Given the description of an element on the screen output the (x, y) to click on. 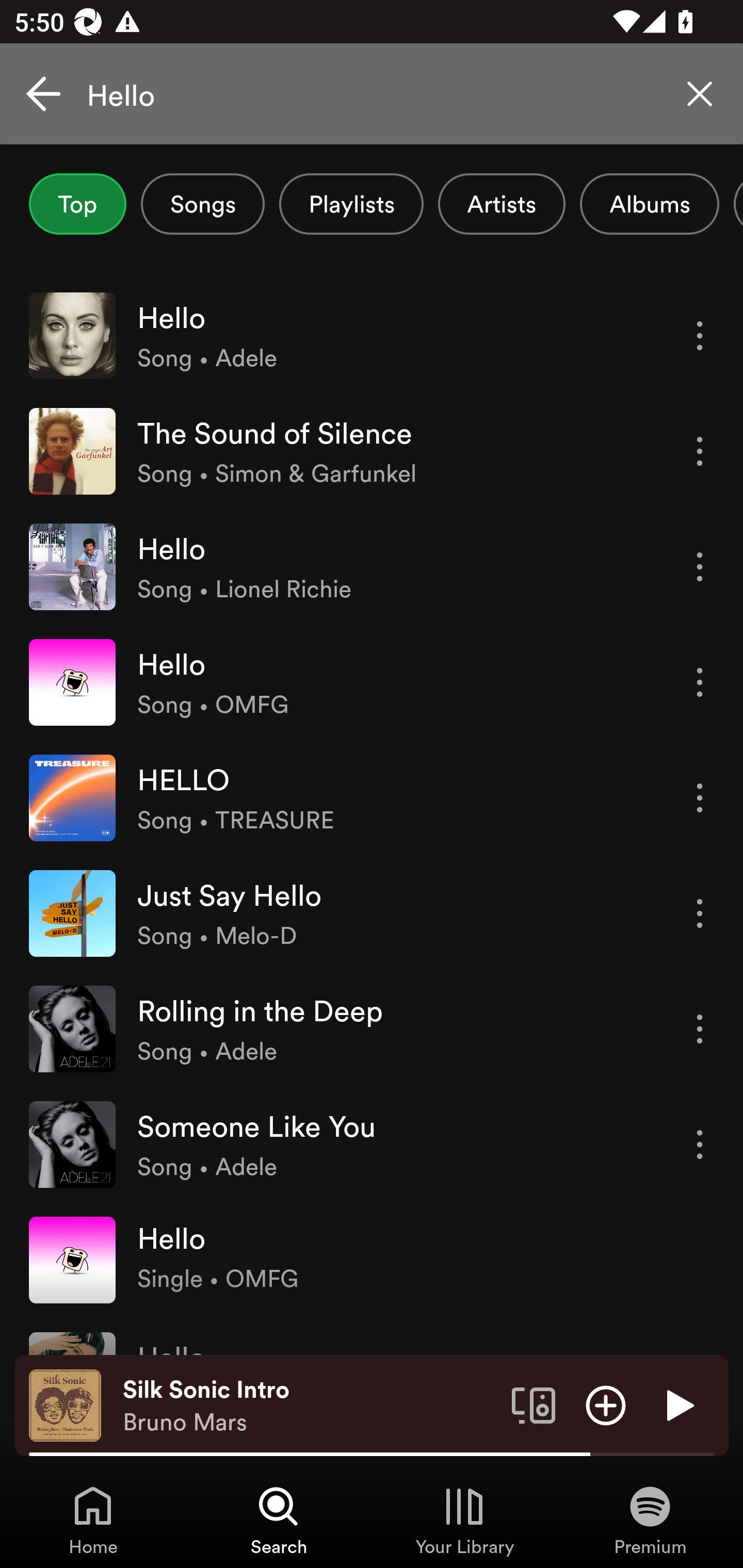
Hello (371, 93)
Cancel (43, 93)
Clear search query (699, 93)
Top (77, 203)
Songs (202, 203)
Playlists (351, 203)
Artists (501, 203)
Albums (649, 203)
Hello Song • Adele More options for song Hello (371, 335)
More options for song Hello (699, 336)
More options for song The Sound of Silence (699, 450)
More options for song Hello (699, 566)
Hello Song • OMFG More options for song Hello (371, 682)
More options for song Hello (699, 682)
HELLO Song • TREASURE More options for song HELLO (371, 798)
More options for song HELLO (699, 798)
More options for song Just Say Hello (699, 913)
More options for song Rolling in the Deep (699, 1029)
More options for song Someone Like You (699, 1144)
Hello Single • OMFG (371, 1259)
Silk Sonic Intro Bruno Mars (309, 1405)
The cover art of the currently playing track (64, 1404)
Connect to a device. Opens the devices menu (533, 1404)
Add item (605, 1404)
Play (677, 1404)
Home, Tab 1 of 4 Home Home (92, 1519)
Search, Tab 2 of 4 Search Search (278, 1519)
Your Library, Tab 3 of 4 Your Library Your Library (464, 1519)
Premium, Tab 4 of 4 Premium Premium (650, 1519)
